Given the description of an element on the screen output the (x, y) to click on. 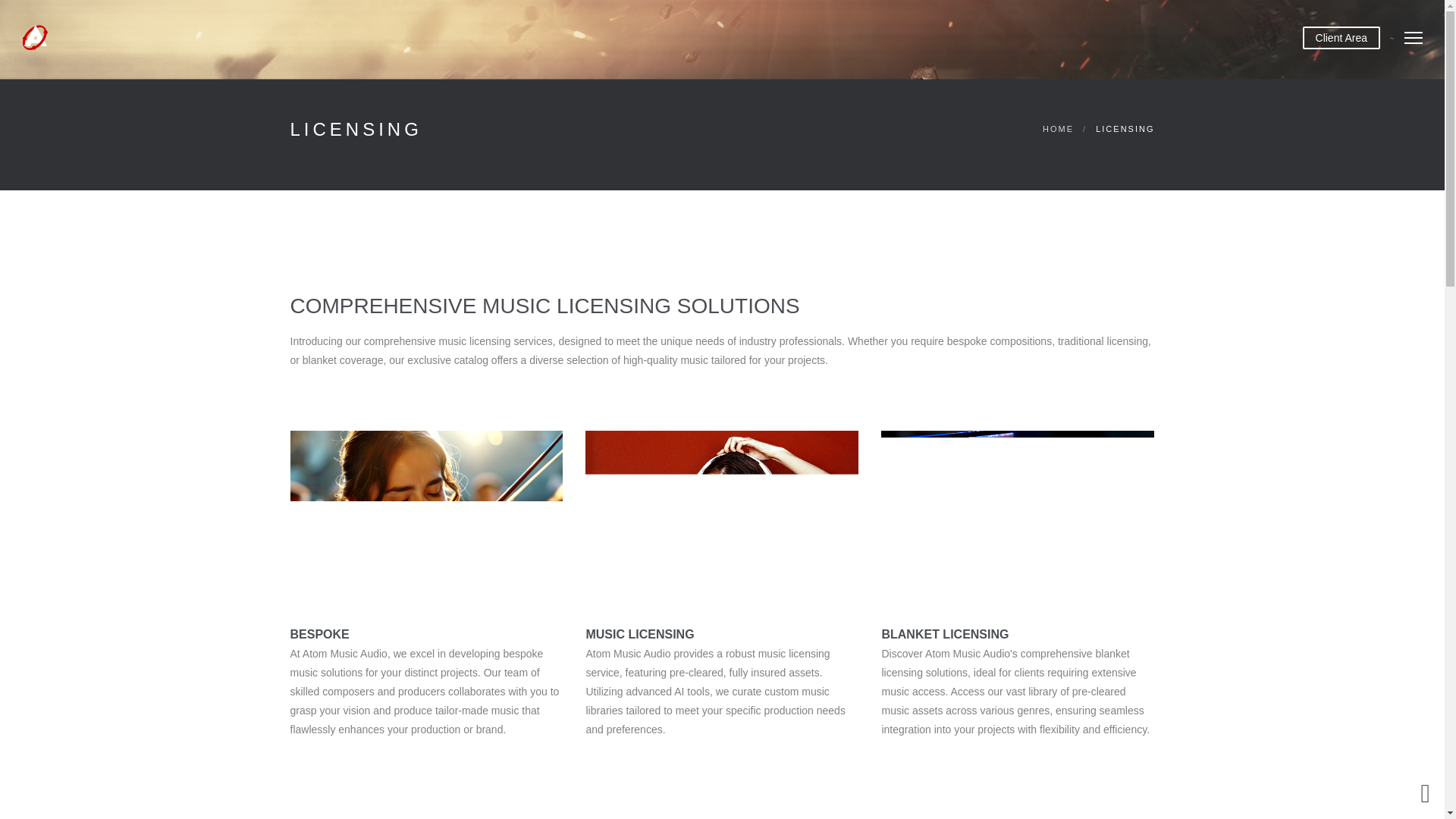
Home (1058, 128)
HOME (1058, 128)
Client Area (1341, 37)
